Given the description of an element on the screen output the (x, y) to click on. 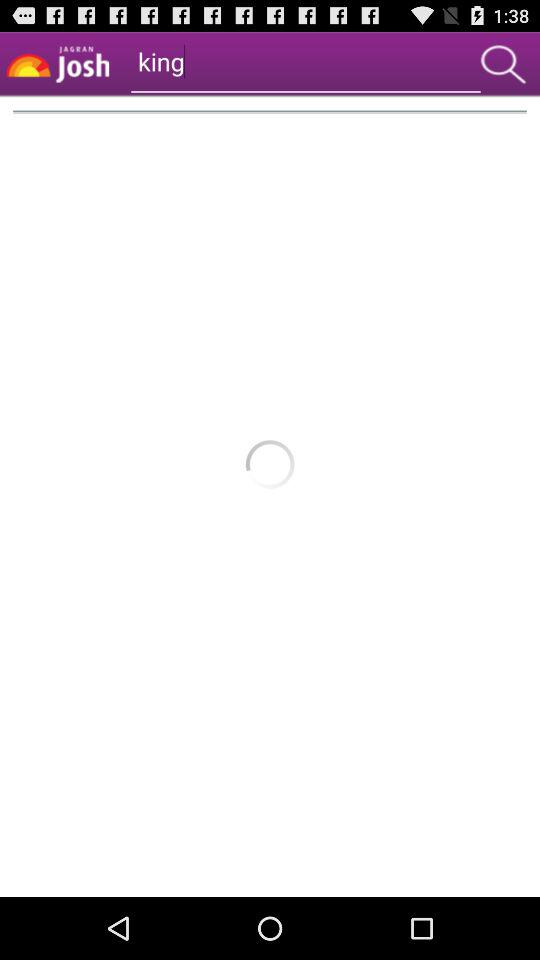
search keyword (503, 64)
